Given the description of an element on the screen output the (x, y) to click on. 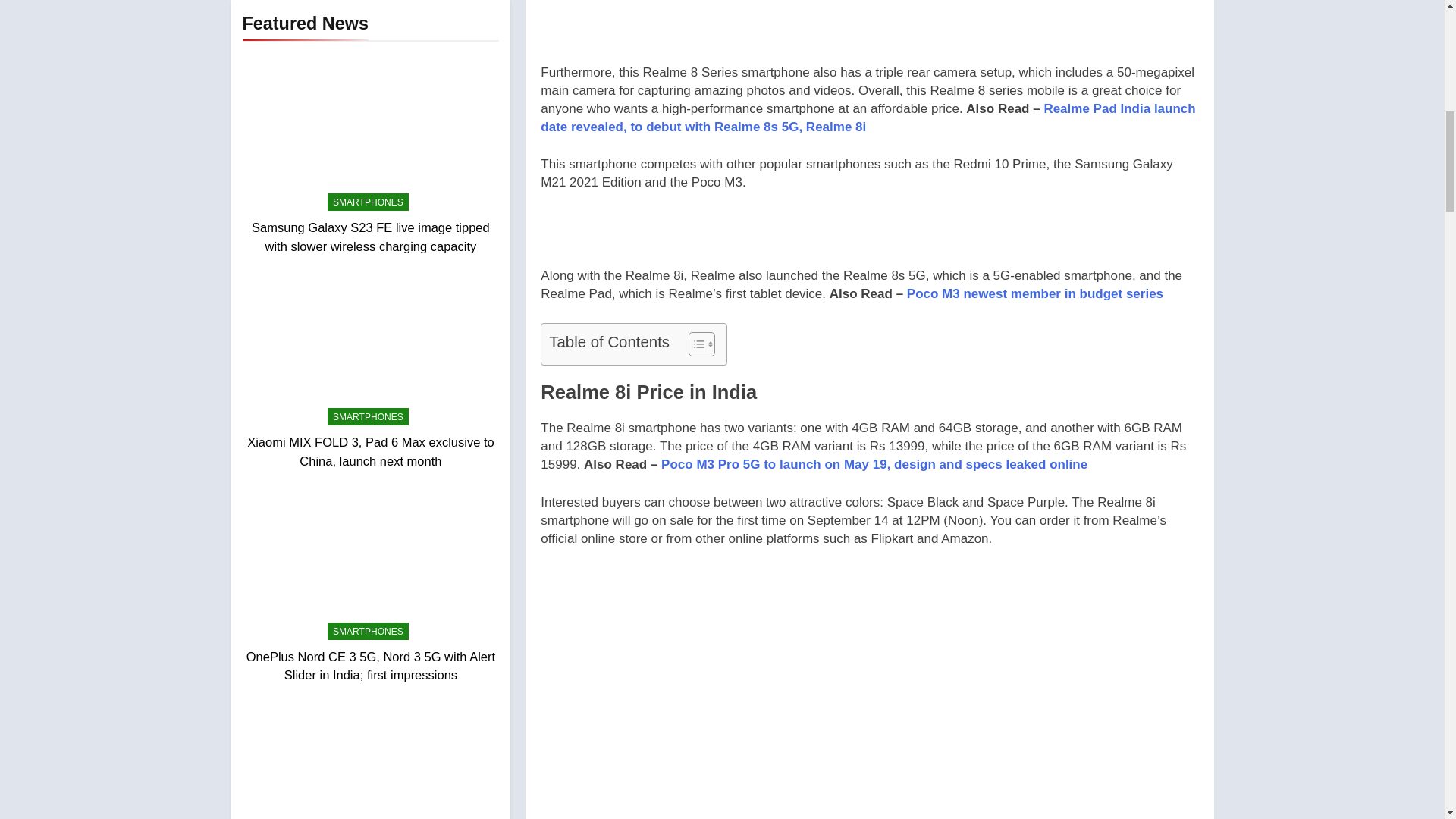
Automobiles (284, 351)
SMARTPHONES (368, 181)
Fitness (271, 508)
Headphones (285, 603)
Android (272, 288)
Camera (273, 382)
Gaming (272, 571)
Entertainment (288, 445)
Laptops (273, 634)
